Given the description of an element on the screen output the (x, y) to click on. 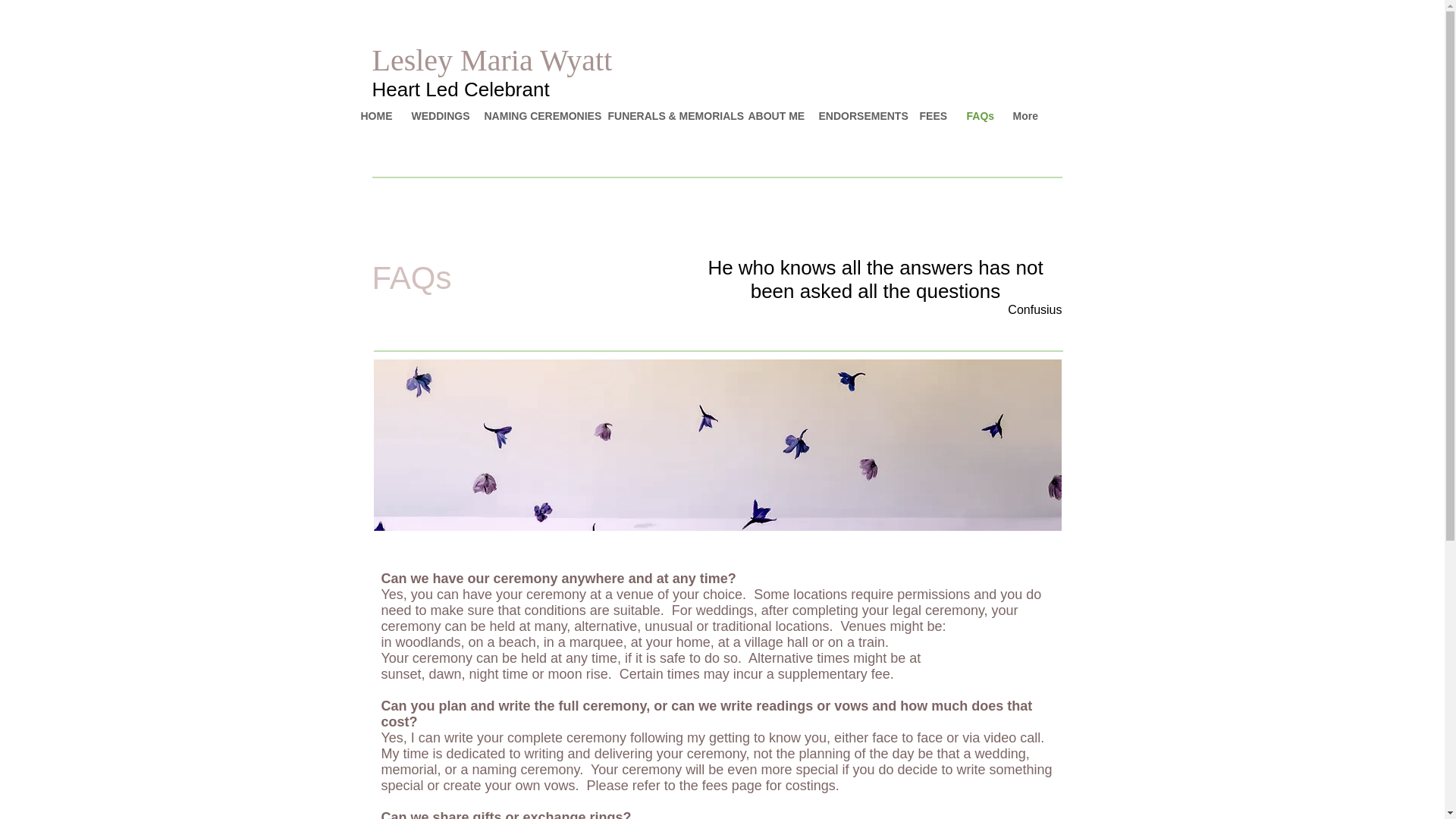
ABOUT ME (772, 116)
WEDDINGS (436, 116)
FAQs (978, 116)
HOME (373, 116)
FEES (931, 116)
ENDORSEMENTS (856, 116)
NAMING CEREMONIES (534, 116)
